Given the description of an element on the screen output the (x, y) to click on. 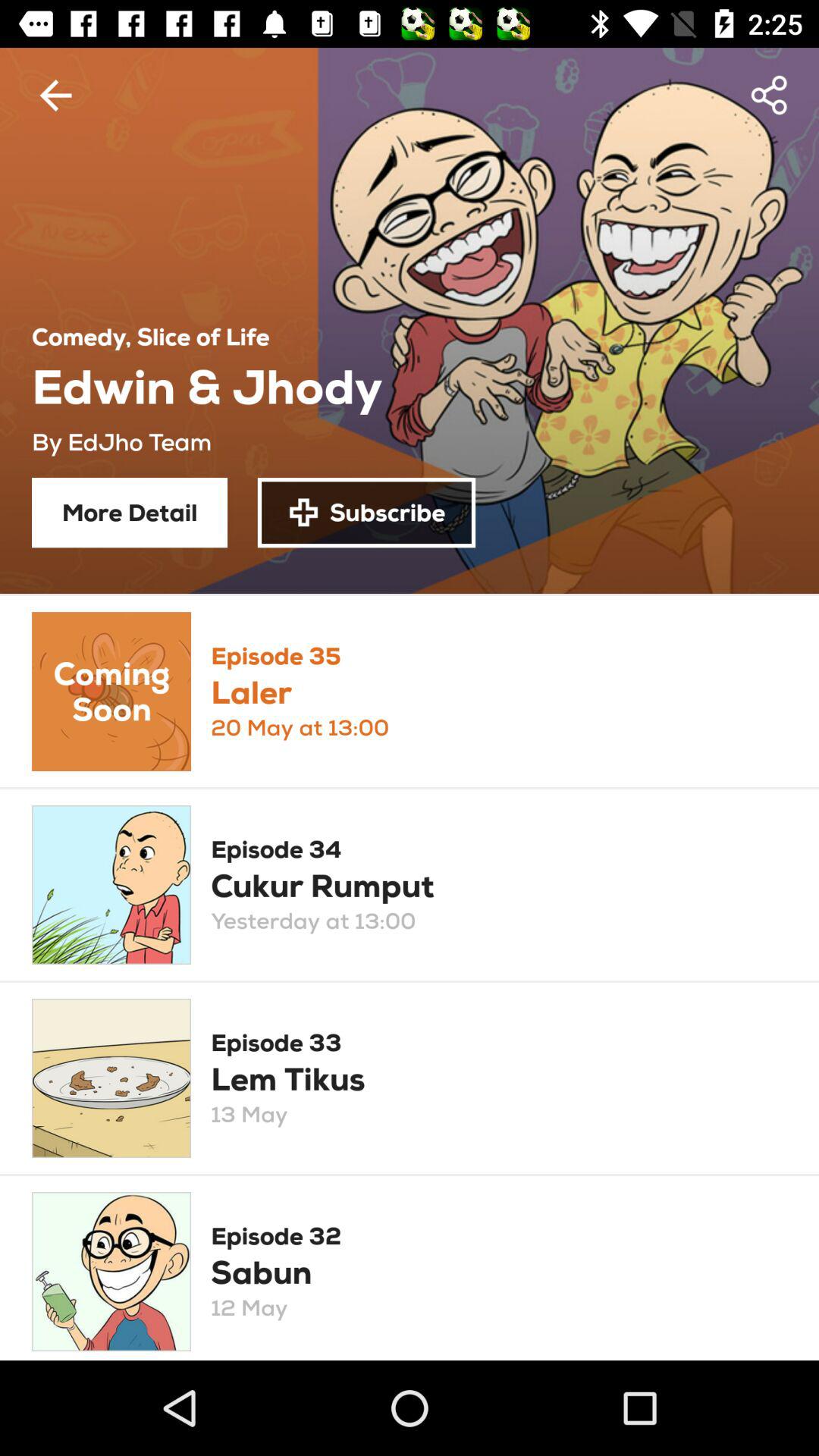
turn off the item below the edwin & jhody icon (366, 512)
